Given the description of an element on the screen output the (x, y) to click on. 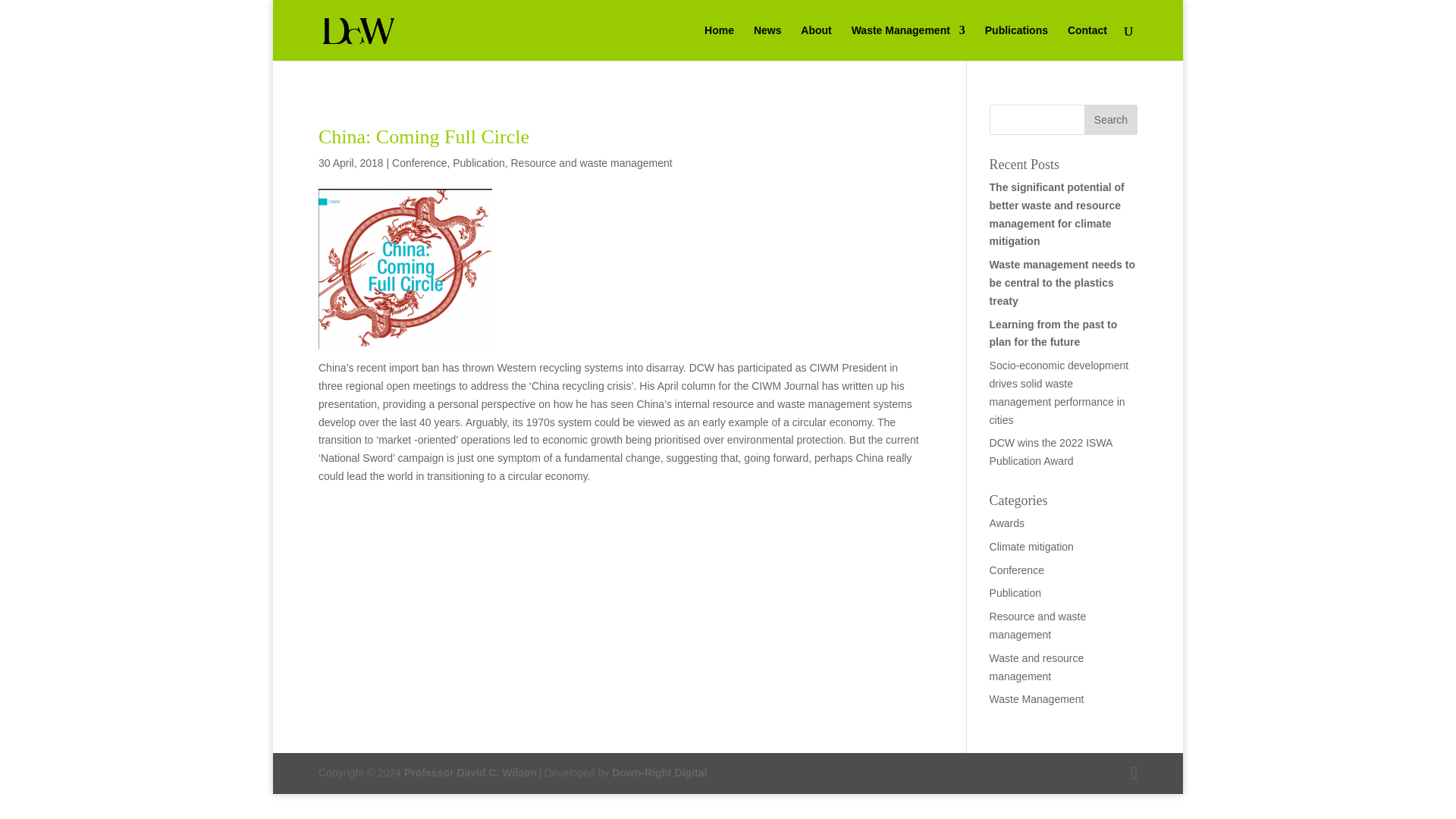
Search (1110, 119)
Learning from the past to plan for the future (1054, 333)
Conference (418, 162)
Climate mitigation (1032, 546)
Resource and waste management (591, 162)
Conference (1016, 570)
China: Coming Full Circle (423, 137)
Contact (1086, 42)
Publication (478, 162)
